Given the description of an element on the screen output the (x, y) to click on. 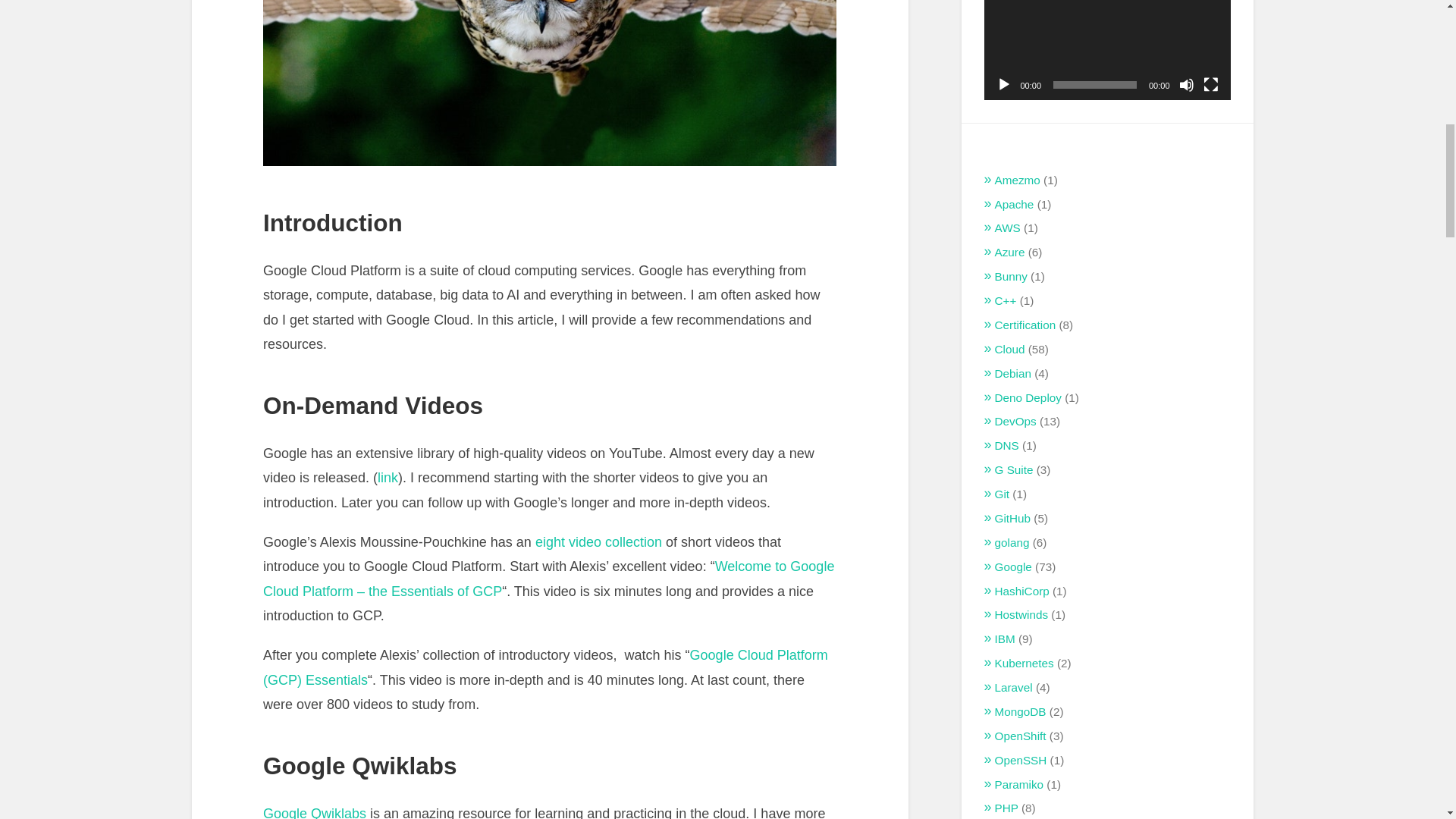
Play (1003, 84)
